Given the description of an element on the screen output the (x, y) to click on. 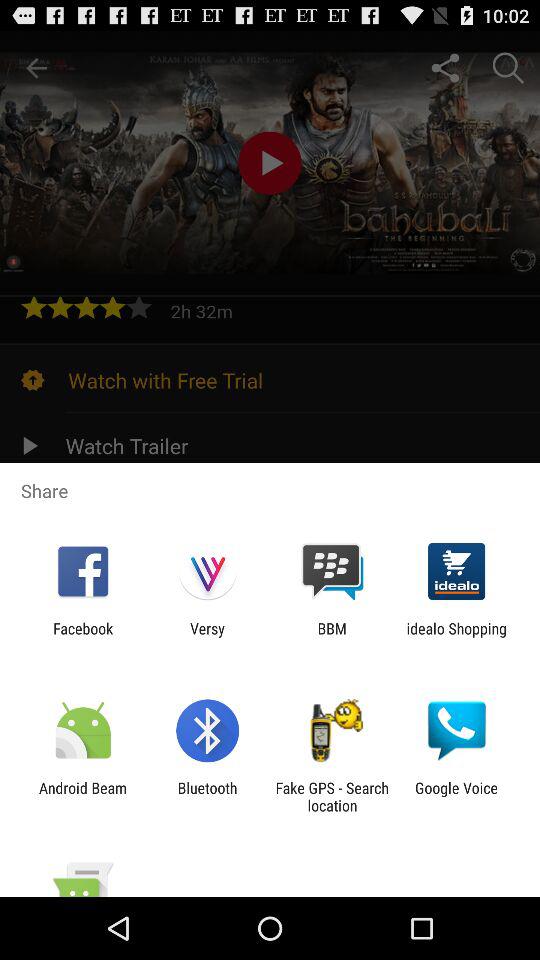
choose the app to the left of the google voice app (332, 796)
